Given the description of an element on the screen output the (x, y) to click on. 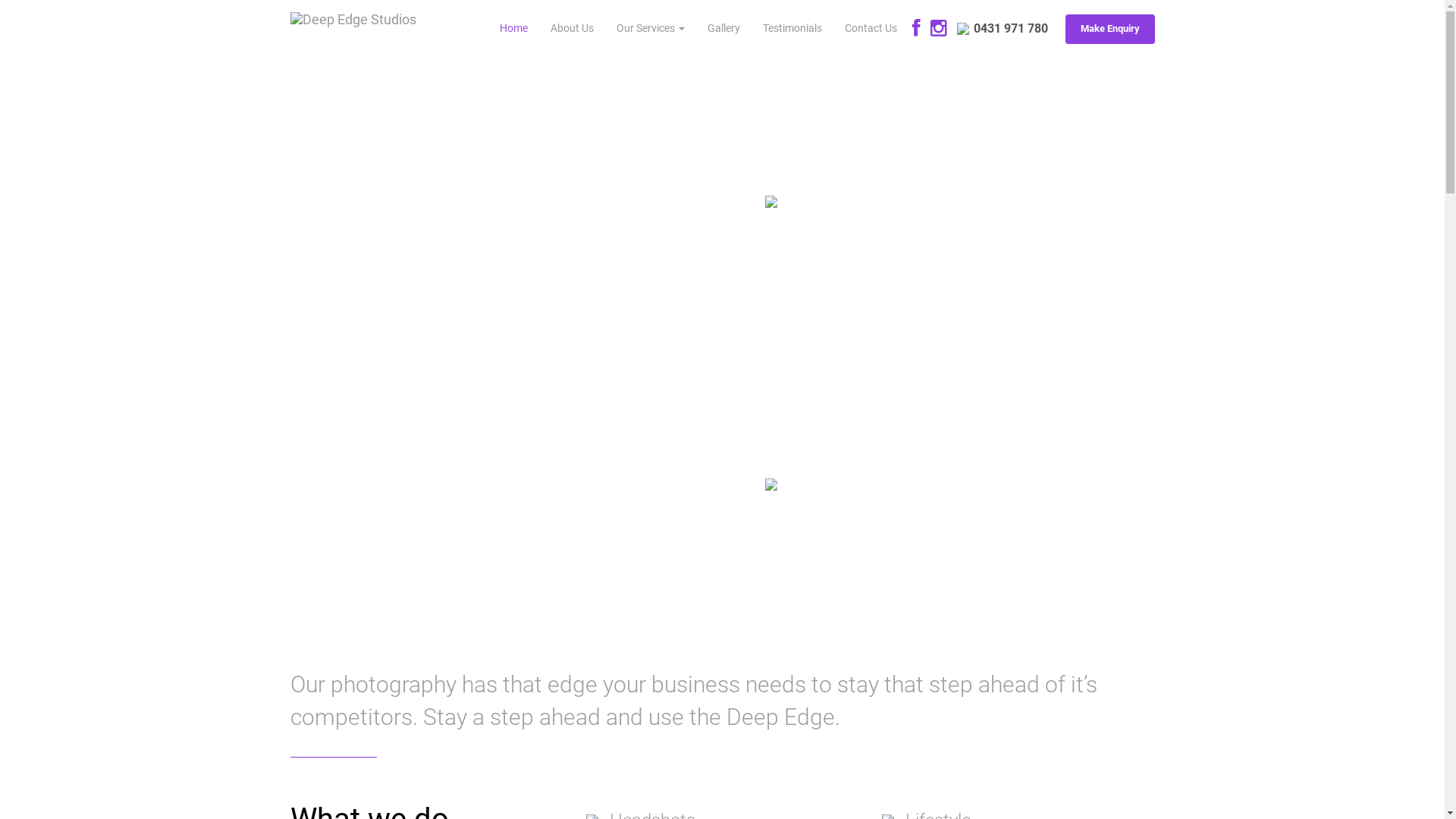
What we do Element type: text (352, 604)
0431 971 780 Element type: text (1002, 28)
What we do Element type: text (352, 295)
Make Enquiry Element type: text (1109, 28)
Testimonials Element type: text (791, 28)
About Us Element type: text (571, 28)
Contact Us Element type: text (869, 28)
Gallery Element type: text (471, 604)
Home Element type: text (513, 28)
Deep Edge Studios Element type: hover (353, 11)
Gallery Element type: text (471, 295)
Gallery Element type: text (723, 28)
Our Services Element type: text (650, 28)
